Given the description of an element on the screen output the (x, y) to click on. 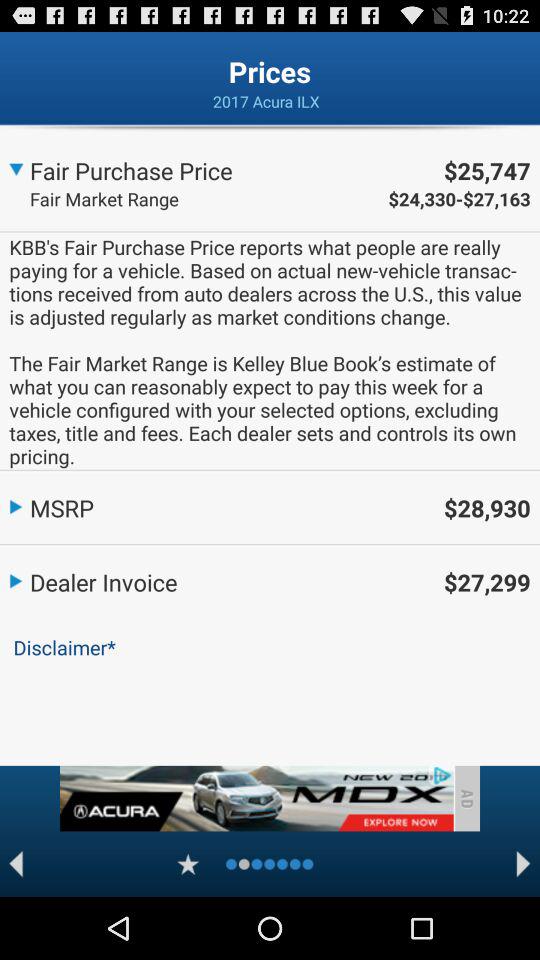
go to favourite (188, 864)
